Given the description of an element on the screen output the (x, y) to click on. 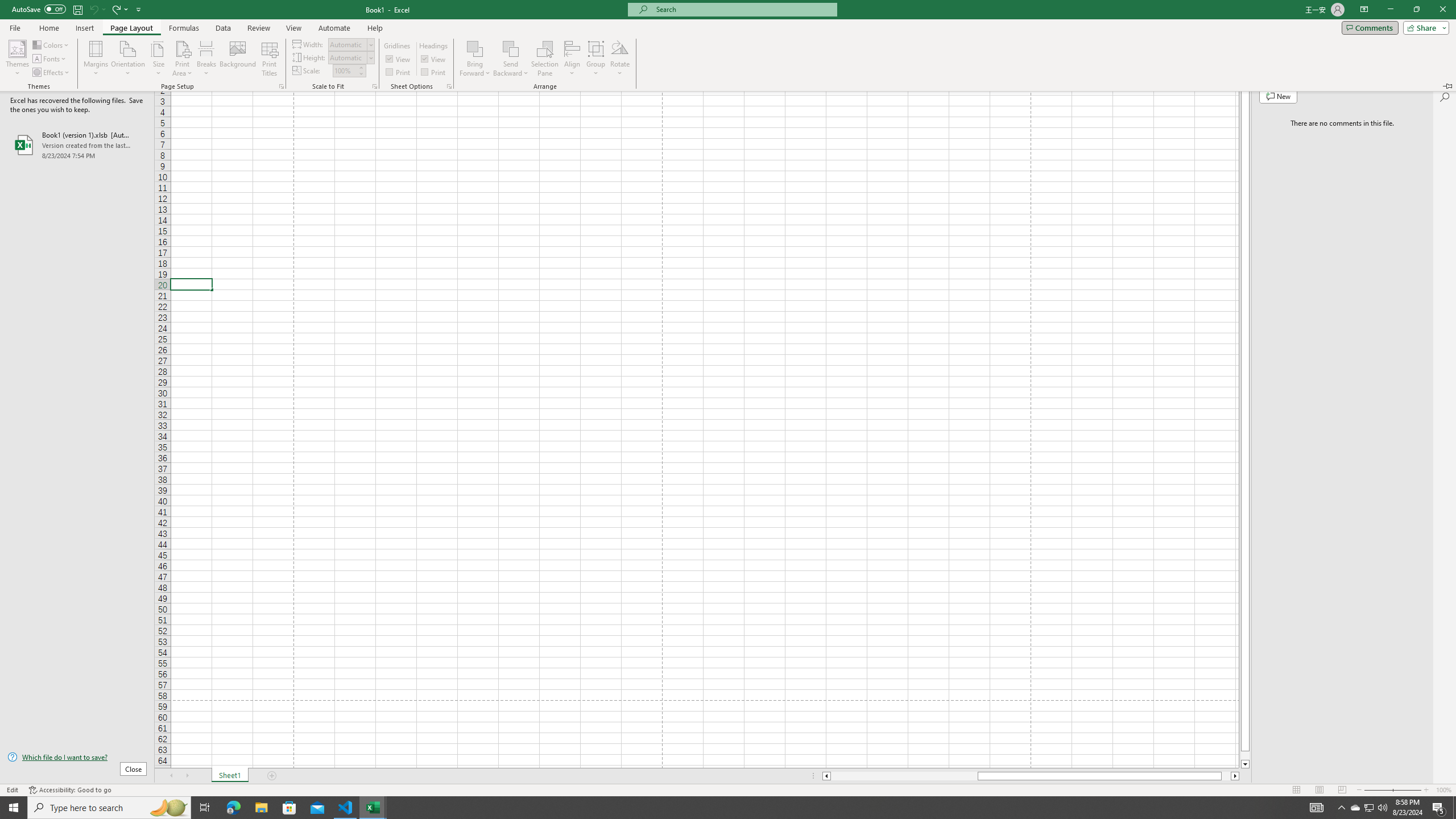
Q2790: 100% (1382, 807)
Class: MsoCommandBar (728, 789)
Running applications (717, 807)
Microsoft Edge (233, 807)
